Given the description of an element on the screen output the (x, y) to click on. 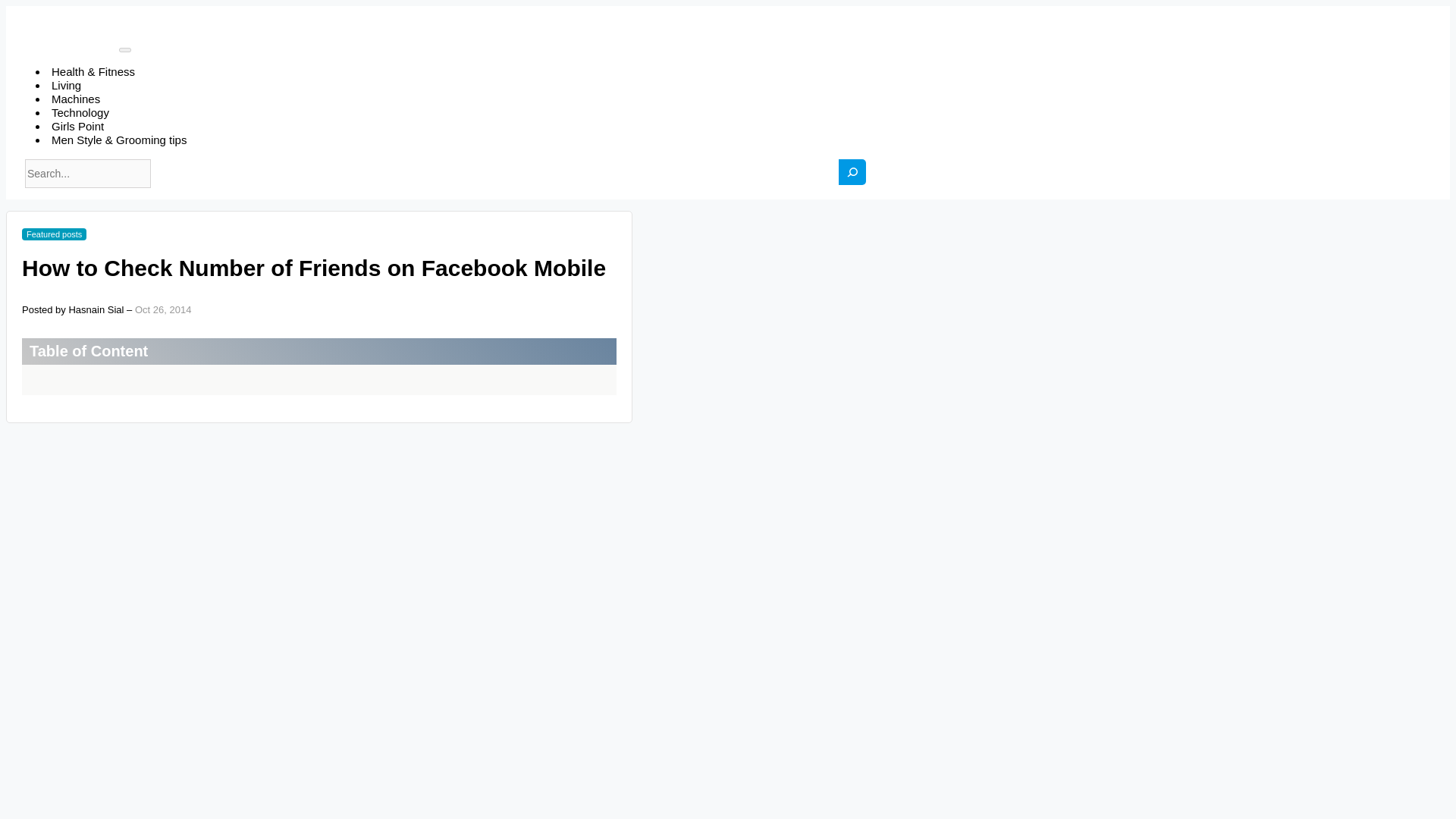
Technology (80, 112)
Living (66, 85)
Machines (75, 98)
Featured posts (53, 234)
Girls Point (77, 126)
